Given the description of an element on the screen output the (x, y) to click on. 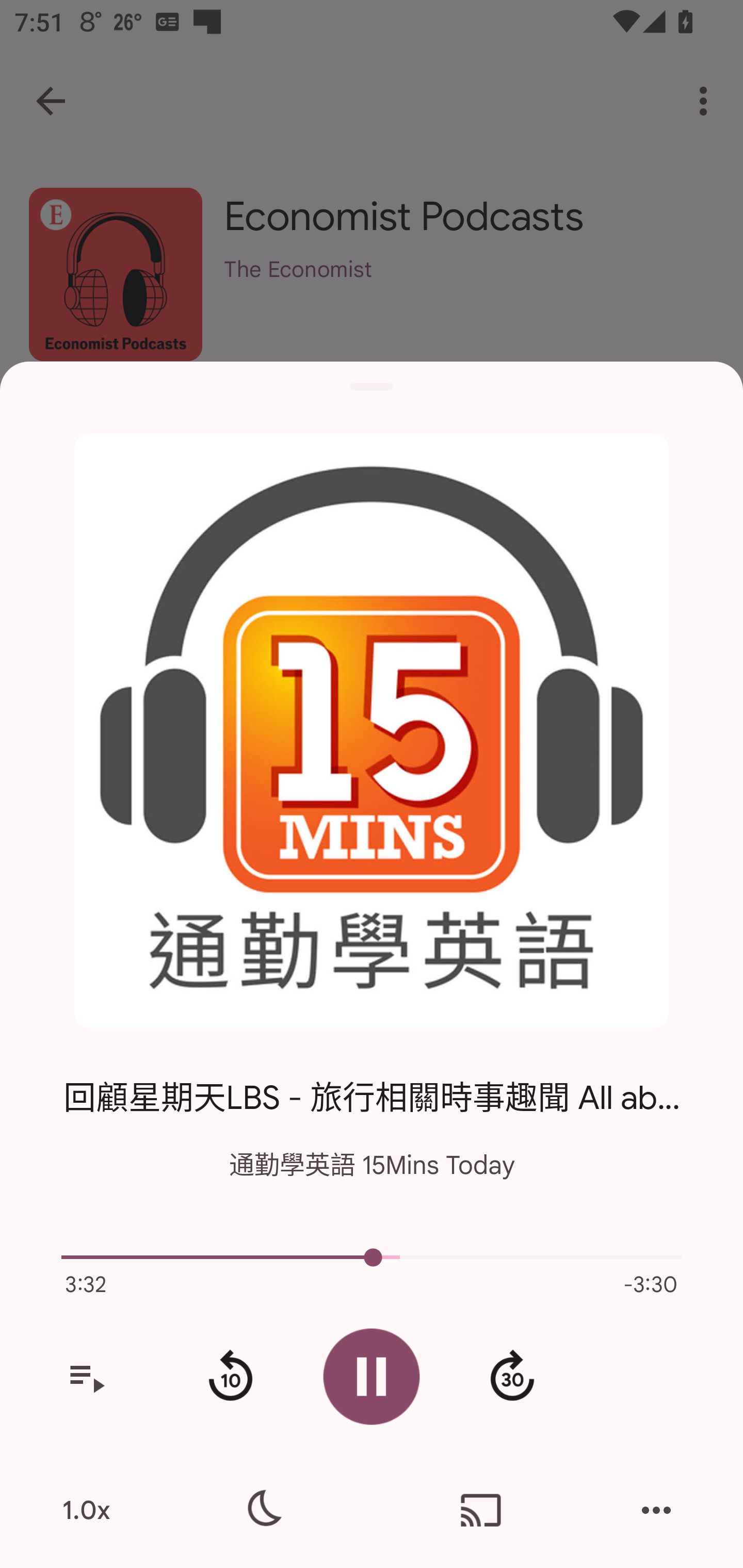
Open the show page for 通勤學英語 15Mins Today (371, 731)
5023.0 Current episode playback (371, 1257)
Pause (371, 1376)
View your queue (86, 1376)
Rewind 10 seconds (230, 1376)
Fast forward 30 second (511, 1376)
1.0x Playback speed is 1.0. (86, 1510)
Sleep timer settings (261, 1510)
Cast. Disconnected (480, 1510)
More actions (655, 1510)
